Given the description of an element on the screen output the (x, y) to click on. 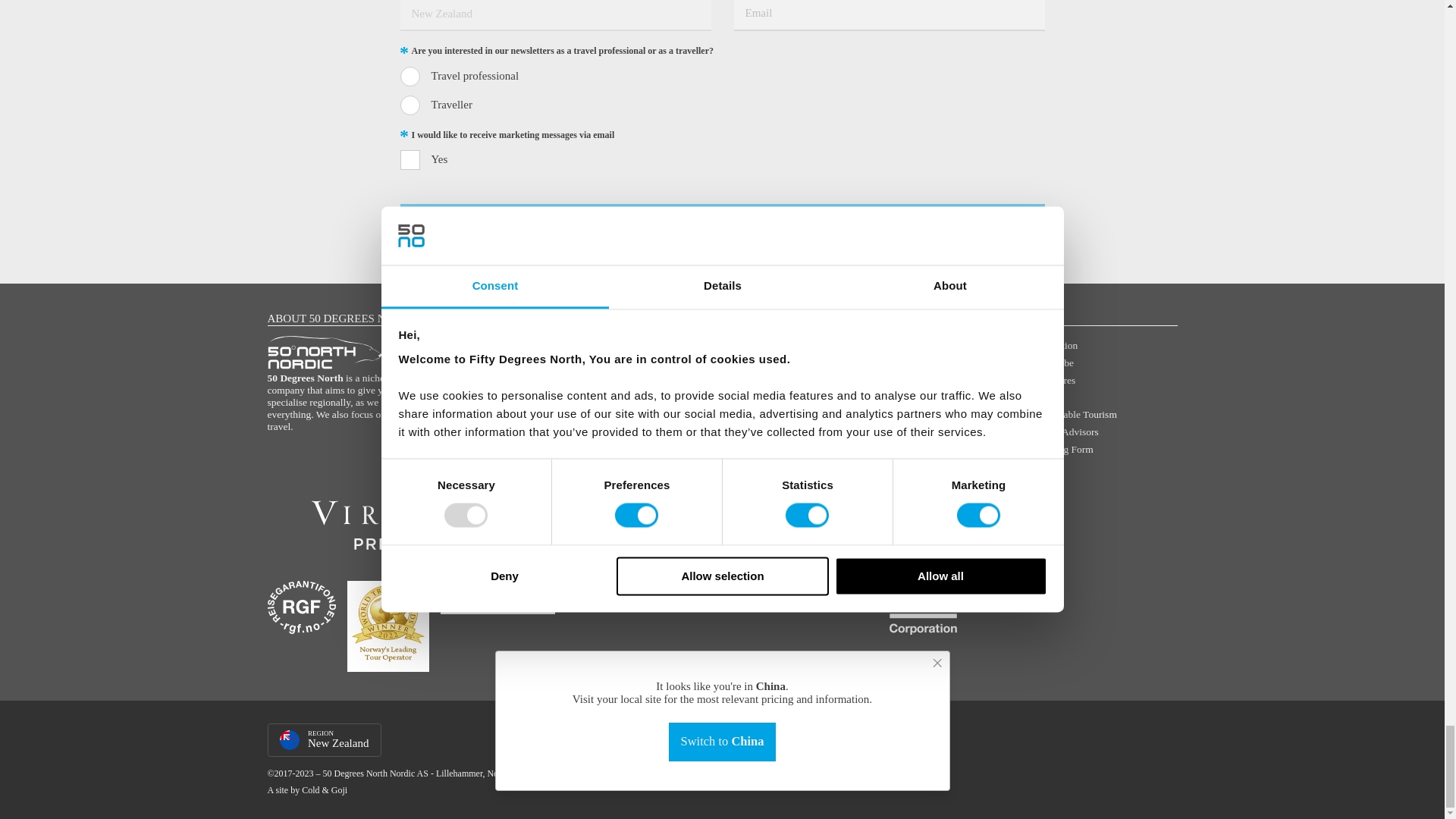
00NVg000000RE25 (410, 105)
1 (410, 159)
00NVg000000RE0T (410, 76)
